Given the description of an element on the screen output the (x, y) to click on. 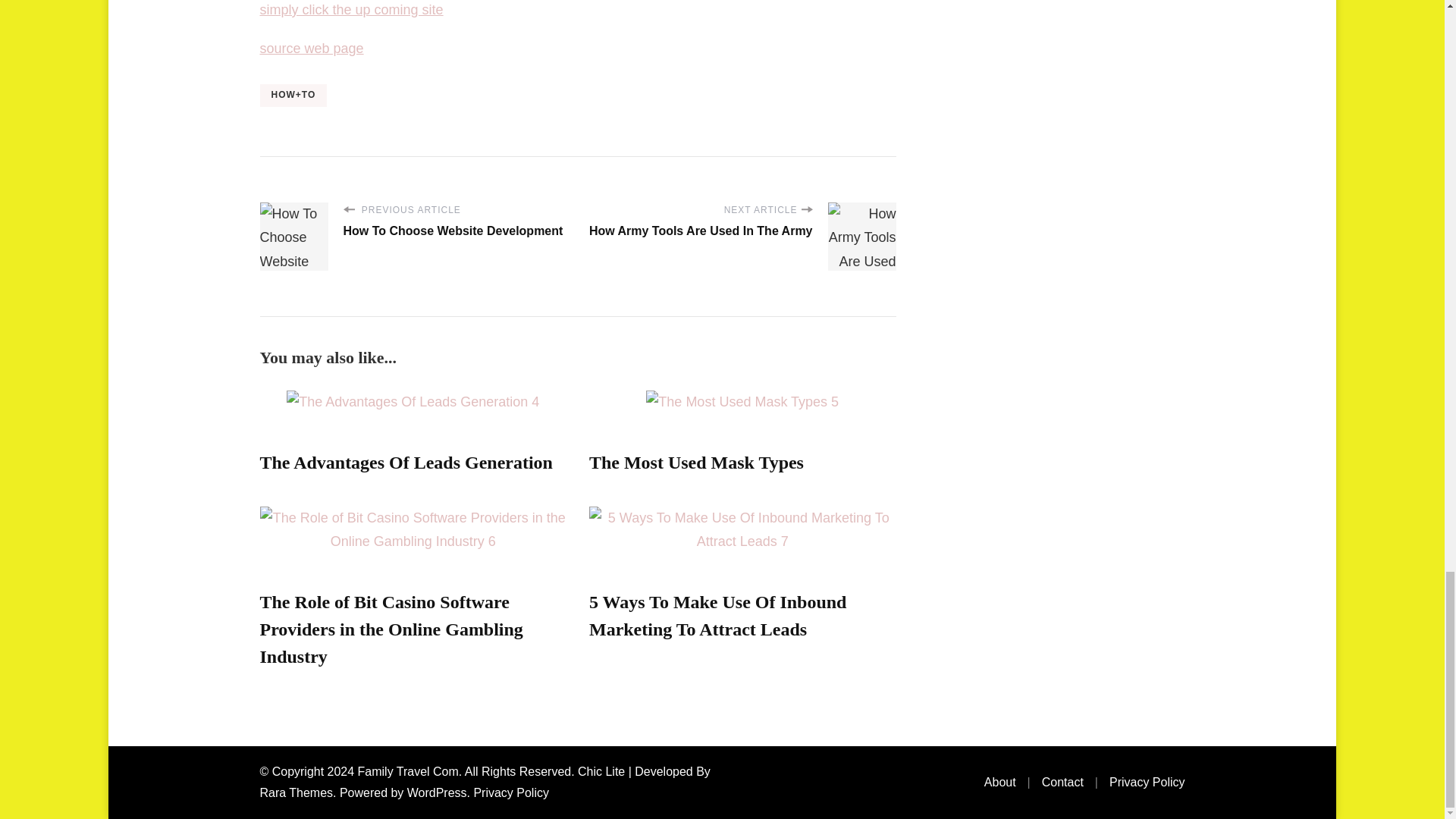
The Most Used Mask Types (696, 462)
The Advantages Of Leads Generation (405, 462)
simply click the up coming site (350, 9)
source web page (310, 48)
5 Ways To Make Use Of Inbound Marketing To Attract Leads (717, 615)
